Given the description of an element on the screen output the (x, y) to click on. 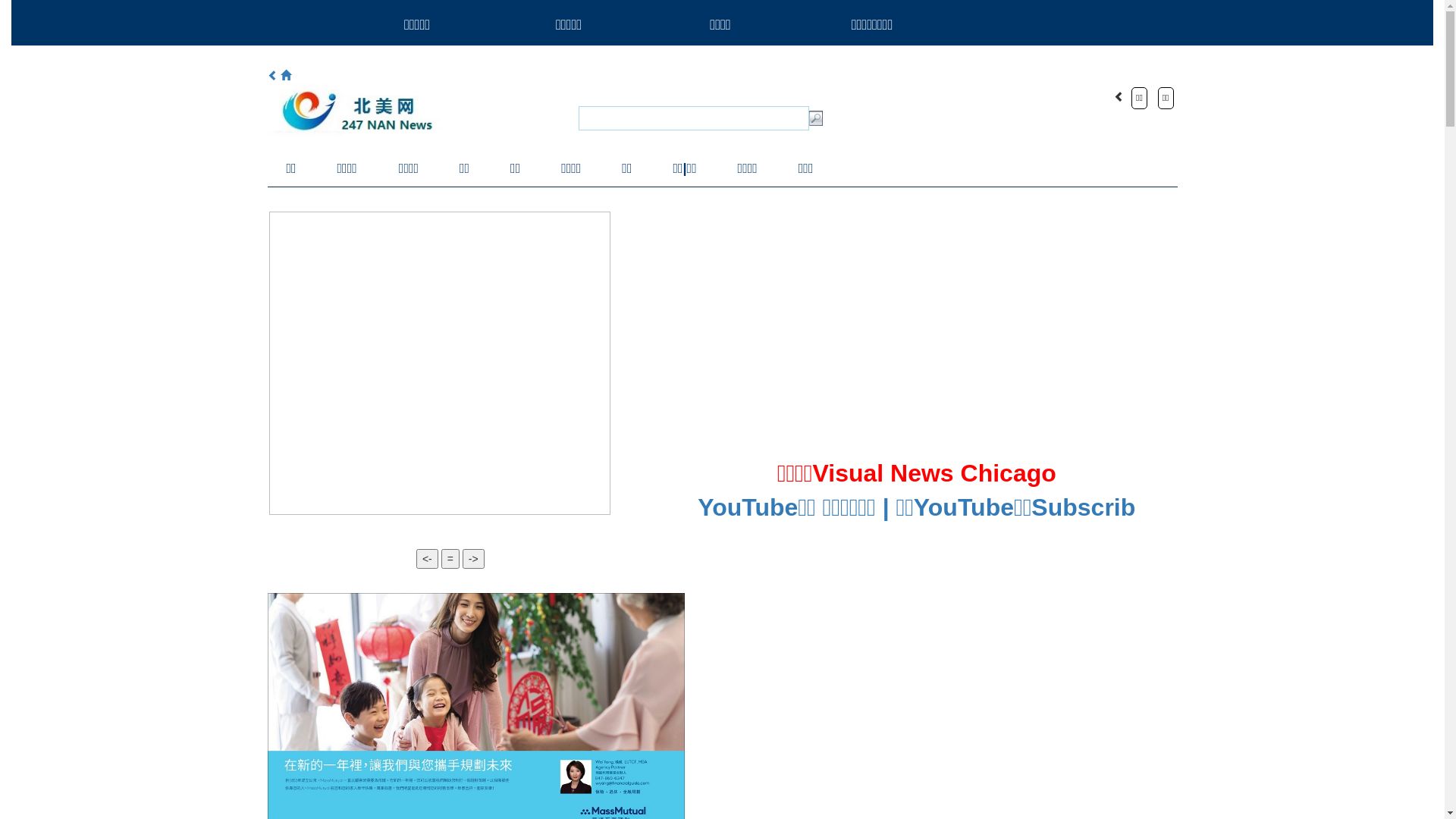
<- Element type: text (427, 558)
= Element type: text (450, 558)
YouTube video player Element type: hover (867, 332)
-> Element type: text (473, 558)
